Given the description of an element on the screen output the (x, y) to click on. 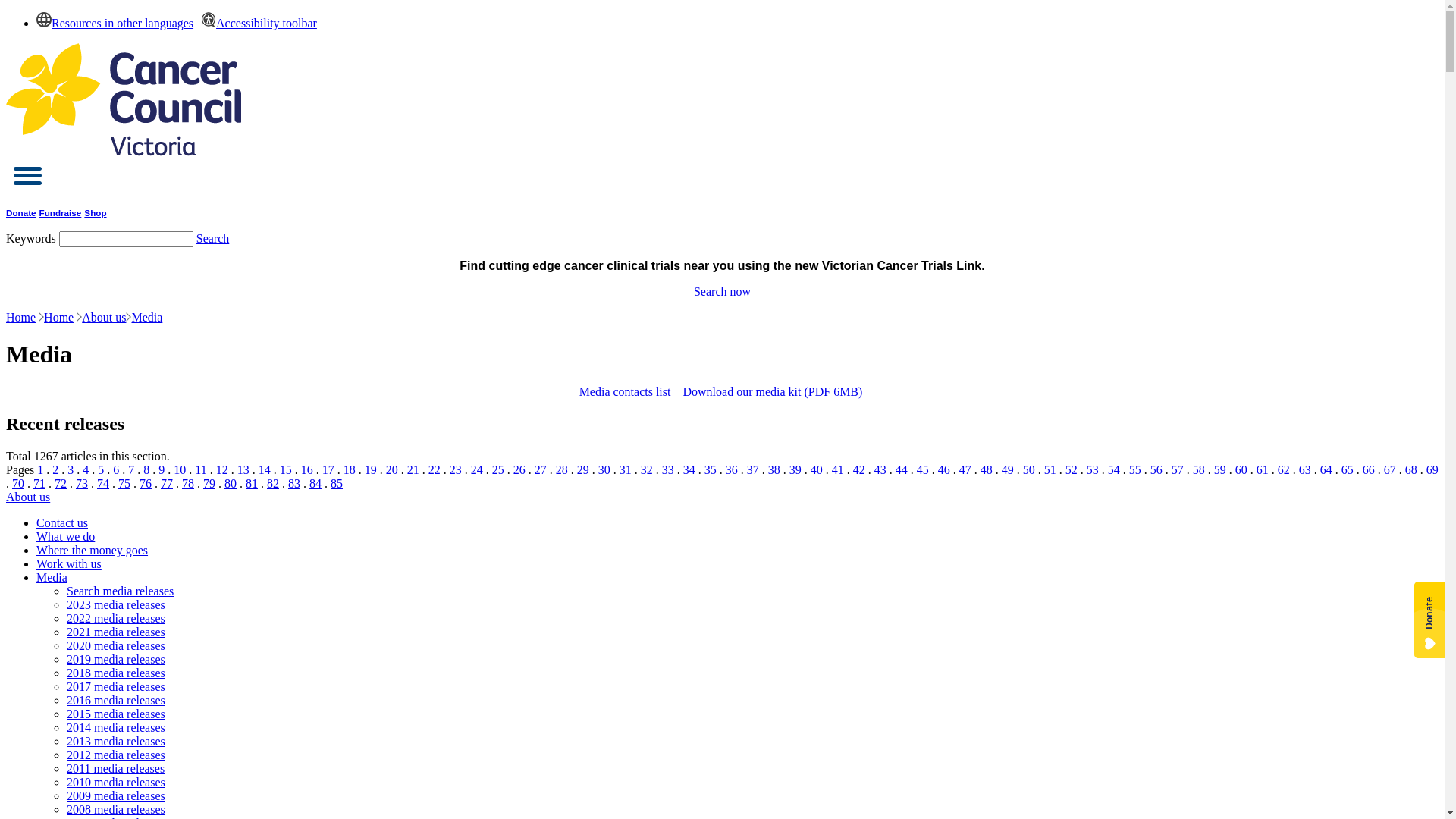
40 Element type: text (816, 469)
2012 media releases Element type: text (115, 754)
38 Element type: text (774, 469)
77 Element type: text (166, 482)
82 Element type: text (272, 482)
71 Element type: text (39, 482)
What we do Element type: text (65, 536)
11 Element type: text (200, 469)
2 Element type: text (55, 469)
2022 media releases Element type: text (115, 617)
26 Element type: text (519, 469)
79 Element type: text (209, 482)
30 Element type: text (604, 469)
Home Element type: text (58, 316)
About us Element type: text (103, 316)
2020 media releases Element type: text (115, 645)
85 Element type: text (336, 482)
45 Element type: text (922, 469)
16 Element type: text (307, 469)
69 Element type: text (1432, 469)
78 Element type: text (188, 482)
67 Element type: text (1389, 469)
2019 media releases Element type: text (115, 658)
32 Element type: text (646, 469)
Where the money goes Element type: text (91, 549)
52 Element type: text (1071, 469)
2013 media releases Element type: text (115, 740)
Fundraise Element type: text (60, 212)
7 Element type: text (131, 469)
2018 media releases Element type: text (115, 672)
17 Element type: text (328, 469)
55 Element type: text (1135, 469)
84 Element type: text (315, 482)
65 Element type: text (1347, 469)
83 Element type: text (294, 482)
54 Element type: text (1113, 469)
8 Element type: text (146, 469)
Media Element type: text (51, 577)
62 Element type: text (1283, 469)
57 Element type: text (1177, 469)
Download our media kit (PDF 6MB)  Element type: text (773, 391)
Home Element type: text (20, 316)
9 Element type: text (161, 469)
80 Element type: text (230, 482)
68 Element type: text (1411, 469)
27 Element type: text (540, 469)
23 Element type: text (455, 469)
Donate Element type: text (21, 212)
12 Element type: text (222, 469)
33 Element type: text (668, 469)
59 Element type: text (1220, 469)
Resources in other languages Element type: text (114, 22)
31 Element type: text (625, 469)
47 Element type: text (965, 469)
Search now Element type: text (721, 291)
2011 media releases Element type: text (115, 768)
61 Element type: text (1262, 469)
29 Element type: text (583, 469)
2021 media releases Element type: text (115, 631)
14 Element type: text (264, 469)
2015 media releases Element type: text (115, 713)
34 Element type: text (689, 469)
73 Element type: text (81, 482)
2016 media releases Element type: text (115, 699)
2010 media releases Element type: text (115, 781)
2008 media releases Element type: text (115, 809)
35 Element type: text (710, 469)
19 Element type: text (370, 469)
28 Element type: text (561, 469)
Accessibility toolbar Element type: text (254, 22)
81 Element type: text (251, 482)
3 Element type: text (70, 469)
5 Element type: text (100, 469)
2014 media releases Element type: text (115, 727)
Search media releases Element type: text (119, 590)
21 Element type: text (413, 469)
15 Element type: text (285, 469)
Return to the home page Element type: hover (123, 151)
37 Element type: text (752, 469)
70 Element type: text (18, 482)
1 Element type: text (40, 469)
46 Element type: text (944, 469)
43 Element type: text (880, 469)
Work with us Element type: text (68, 563)
2023 media releases Element type: text (115, 604)
18 Element type: text (349, 469)
2009 media releases Element type: text (115, 795)
Media contacts list Element type: text (625, 391)
74 Element type: text (103, 482)
53 Element type: text (1092, 469)
20 Element type: text (391, 469)
36 Element type: text (731, 469)
4 Element type: text (85, 469)
58 Element type: text (1198, 469)
72 Element type: text (60, 482)
22 Element type: text (434, 469)
6 Element type: text (115, 469)
66 Element type: text (1368, 469)
13 Element type: text (243, 469)
56 Element type: text (1156, 469)
49 Element type: text (1007, 469)
76 Element type: text (145, 482)
50 Element type: text (1028, 469)
42 Element type: text (859, 469)
41 Element type: text (837, 469)
24 Element type: text (476, 469)
25 Element type: text (498, 469)
Search Element type: text (212, 238)
51 Element type: text (1050, 469)
Media Element type: text (146, 316)
Shop Element type: text (95, 212)
2017 media releases Element type: text (115, 686)
63 Element type: text (1305, 469)
39 Element type: text (795, 469)
Contact us Element type: text (61, 522)
10 Element type: text (179, 469)
44 Element type: text (901, 469)
About us Element type: text (28, 496)
60 Element type: text (1241, 469)
64 Element type: text (1326, 469)
75 Element type: text (124, 482)
48 Element type: text (986, 469)
